Given the description of an element on the screen output the (x, y) to click on. 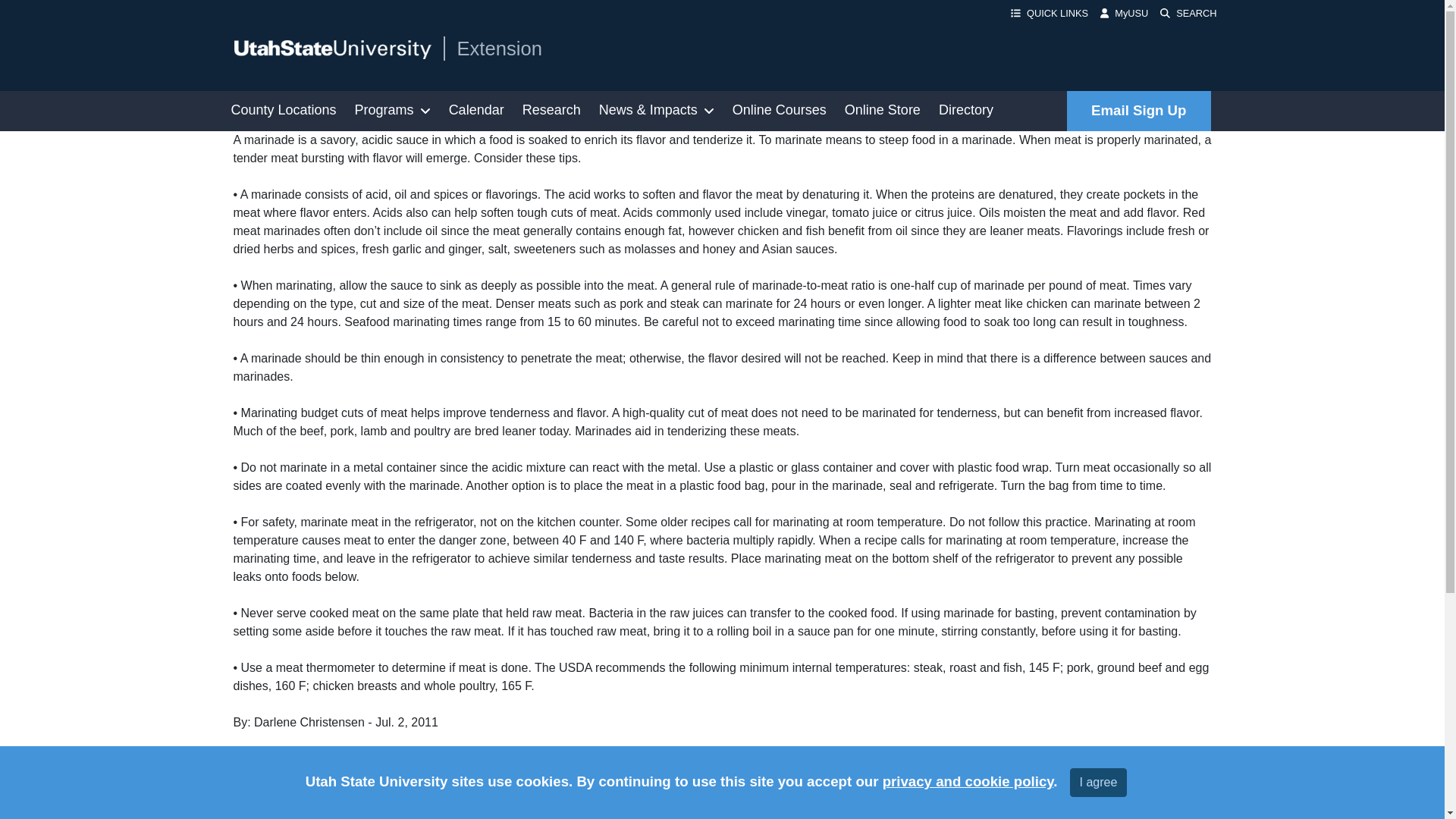
USU Extension Experts and directory (966, 110)
Programs (392, 110)
SEARCH (1188, 13)
Email Signup to USU Extension (1138, 110)
Research (551, 110)
Extension Publications - Current, Archives, Video (551, 110)
QUICK LINKS (1049, 13)
Extension Online Courses (779, 110)
Online Courses (779, 110)
